Given the description of an element on the screen output the (x, y) to click on. 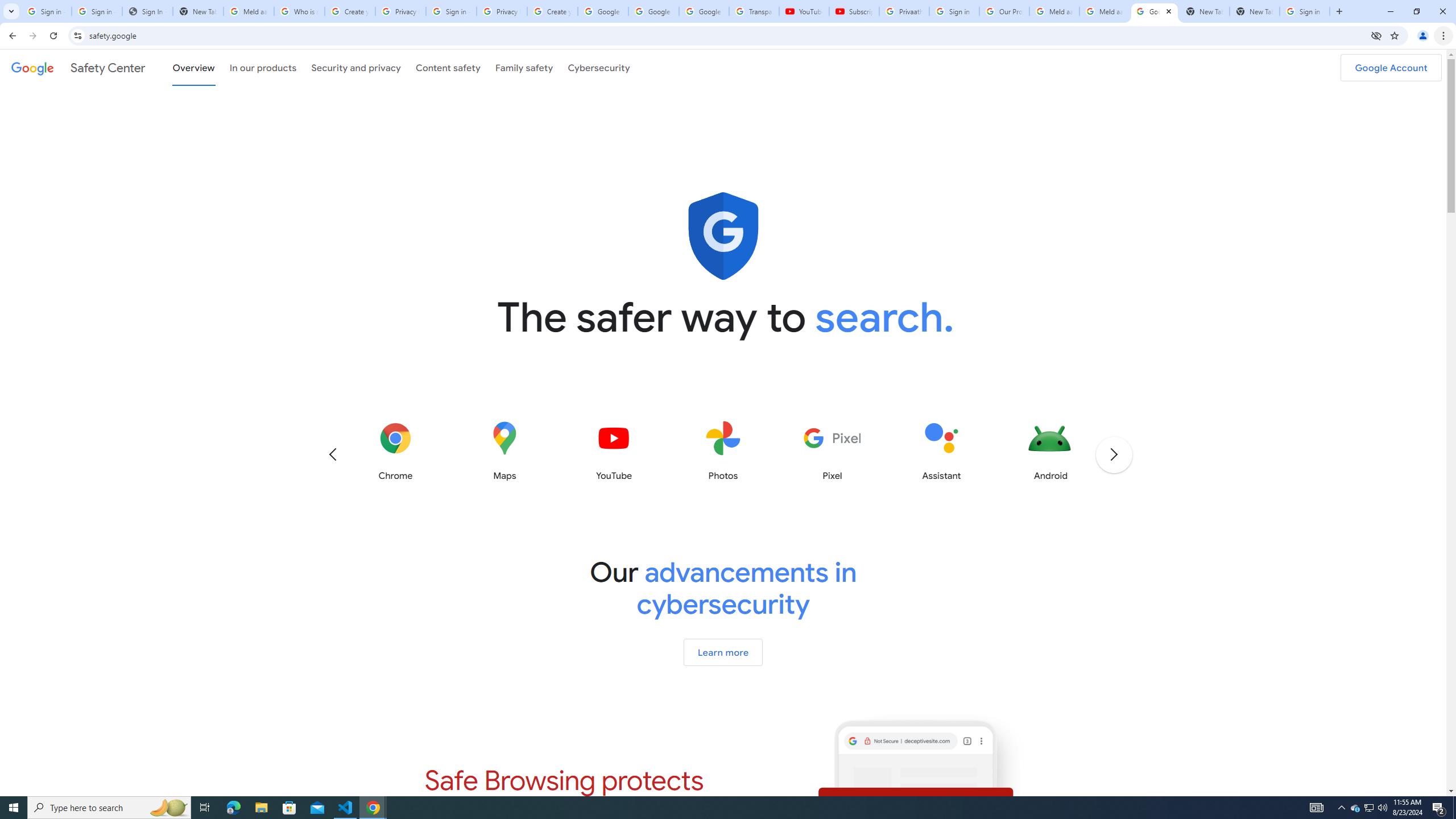
Who is my administrator? - Google Account Help (299, 11)
Google Account (1390, 67)
Subscriptions - YouTube (853, 11)
Safety Center (78, 67)
Google Safety Center - Stay Safer Online (1154, 11)
Learn more about Photos (722, 451)
Security and privacy (356, 67)
